Given the description of an element on the screen output the (x, y) to click on. 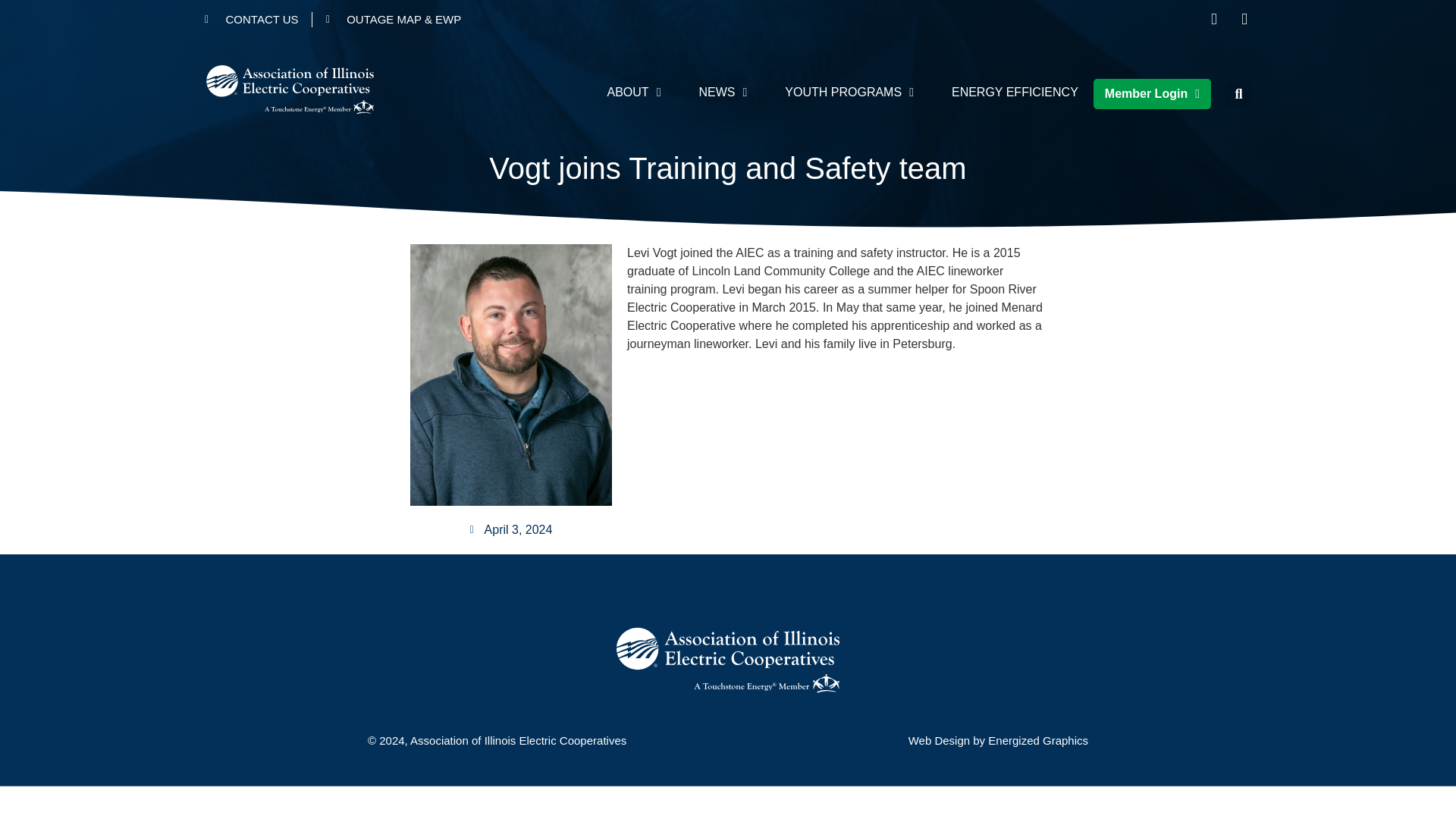
YOUTH PROGRAMS (849, 92)
ABOUT (634, 92)
NEWS (722, 92)
CONTACT US (251, 18)
ENERGY EFFICIENCY (1015, 92)
